Given the description of an element on the screen output the (x, y) to click on. 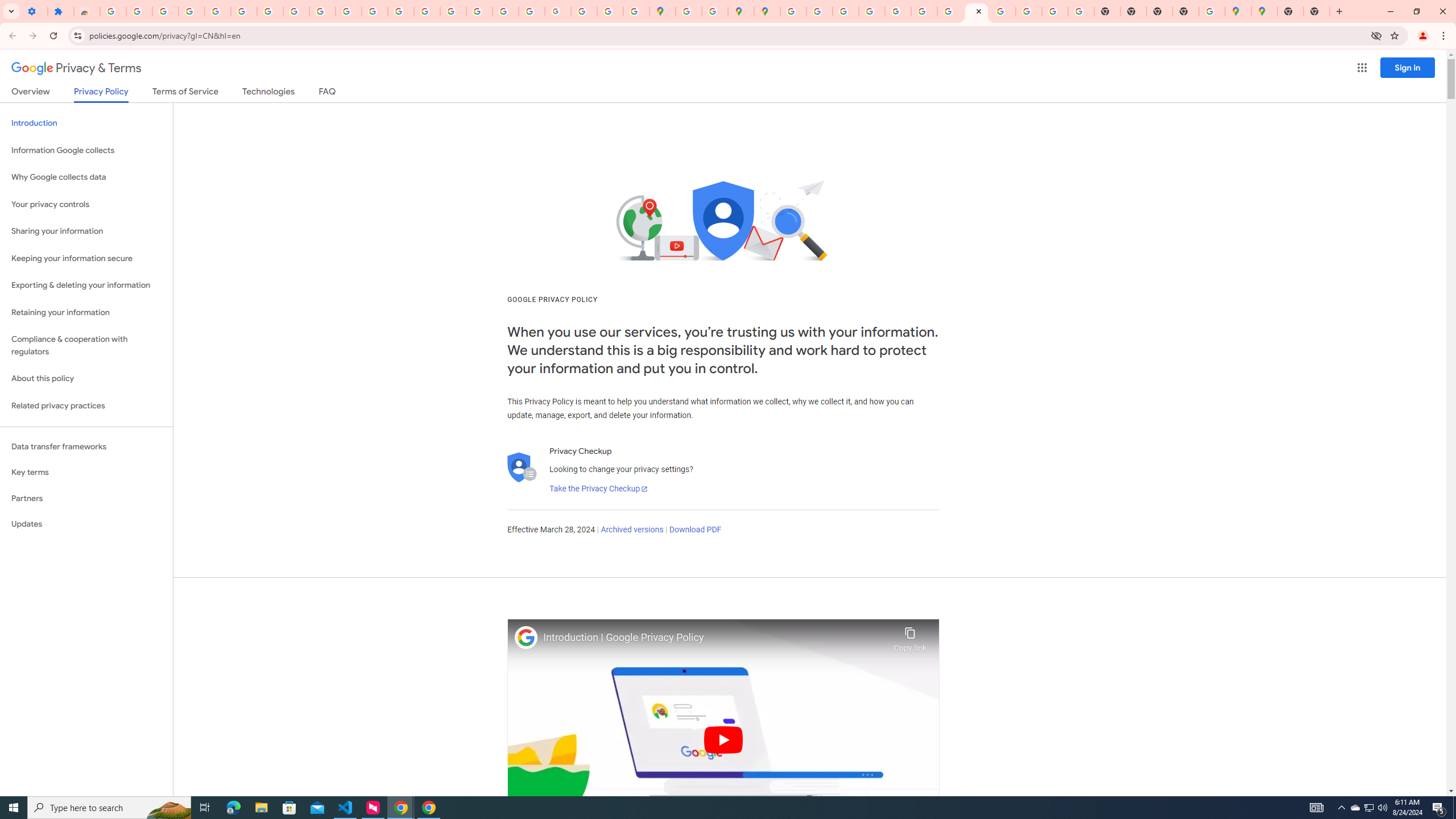
Sign in - Google Accounts (217, 11)
Privacy Help Center - Policies Help (818, 11)
YouTube (923, 11)
